Given the description of an element on the screen output the (x, y) to click on. 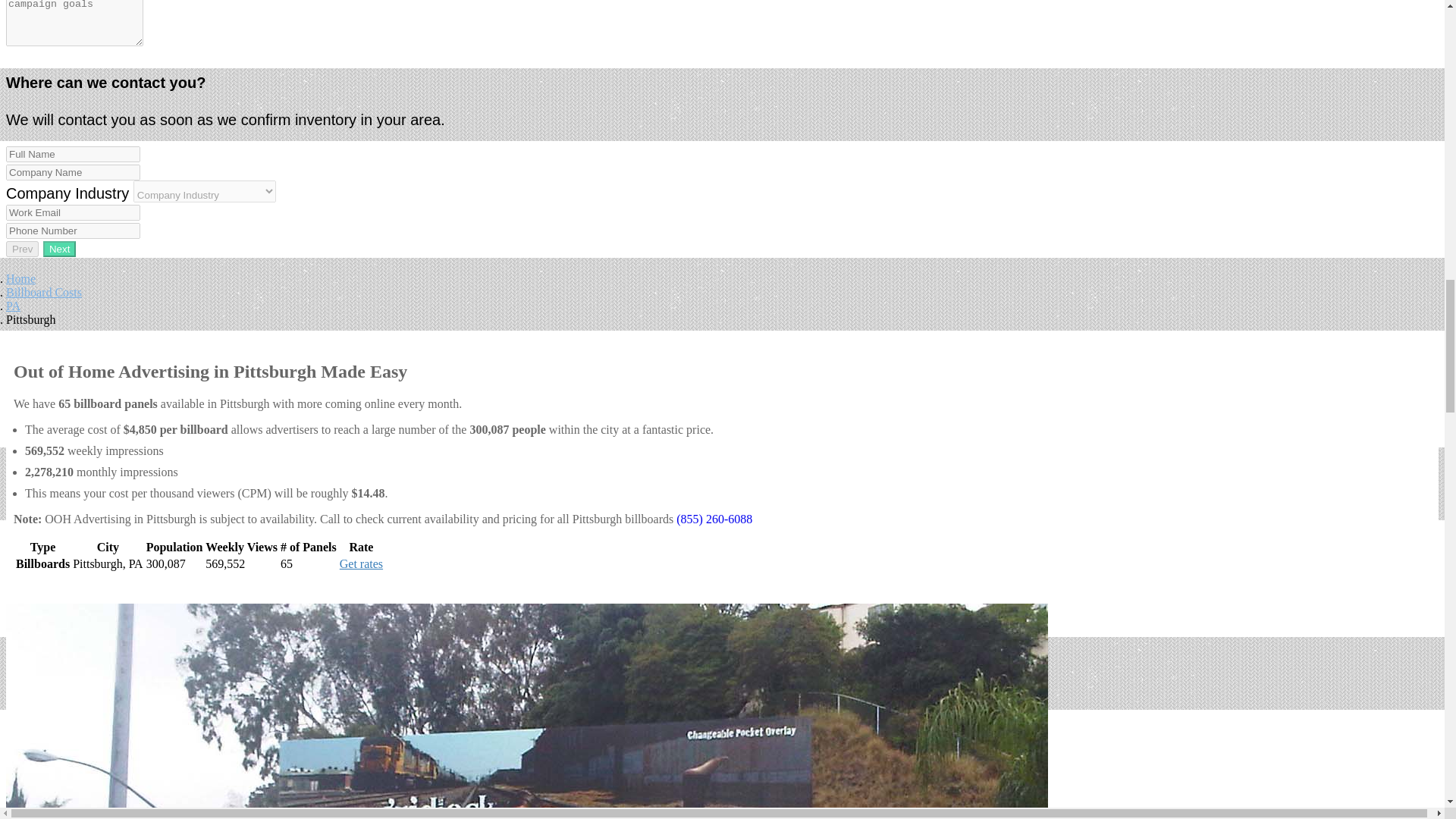
Prev (22, 248)
Get rates (360, 563)
Next (59, 248)
Home (19, 278)
Billboard Costs (43, 291)
PA (12, 305)
